Given the description of an element on the screen output the (x, y) to click on. 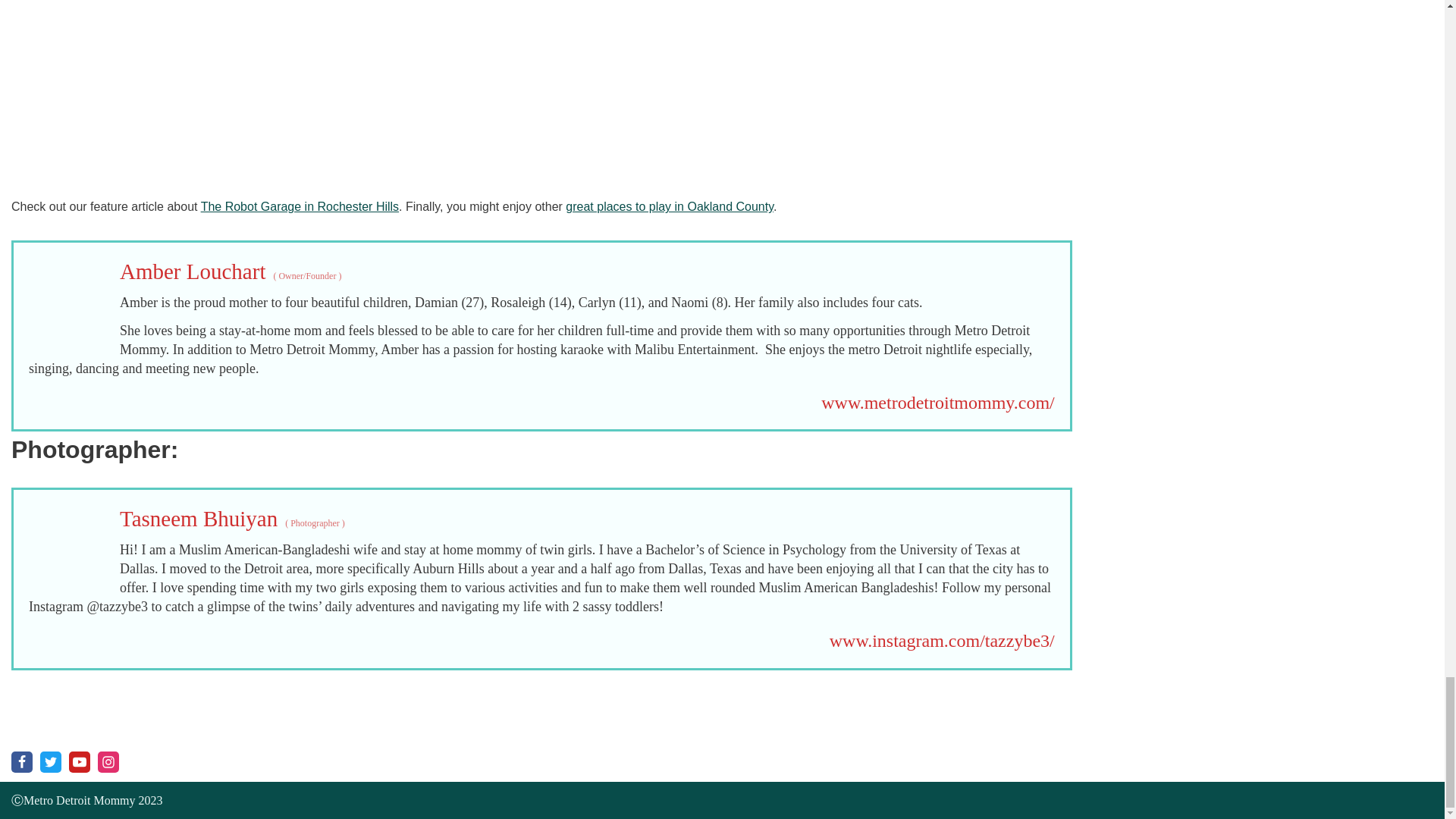
Twitter (50, 762)
Youtube (79, 762)
Facebook (21, 762)
Instagram (108, 762)
